Given the description of an element on the screen output the (x, y) to click on. 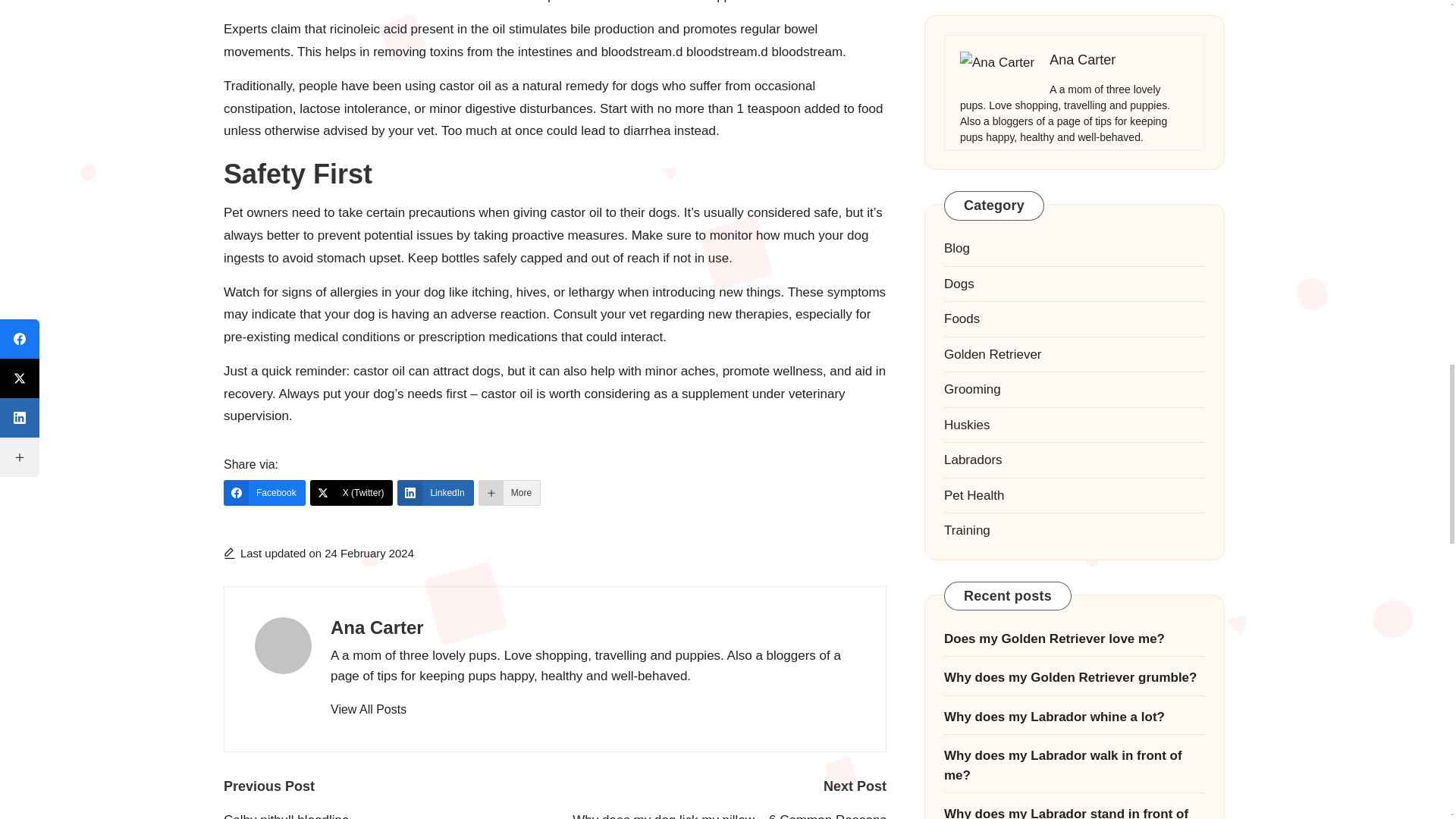
Facebook (264, 492)
Ana Carter (376, 627)
View All Posts (368, 710)
Colby pitbull bloodline (389, 814)
LinkedIn (435, 492)
More (509, 492)
